Given the description of an element on the screen output the (x, y) to click on. 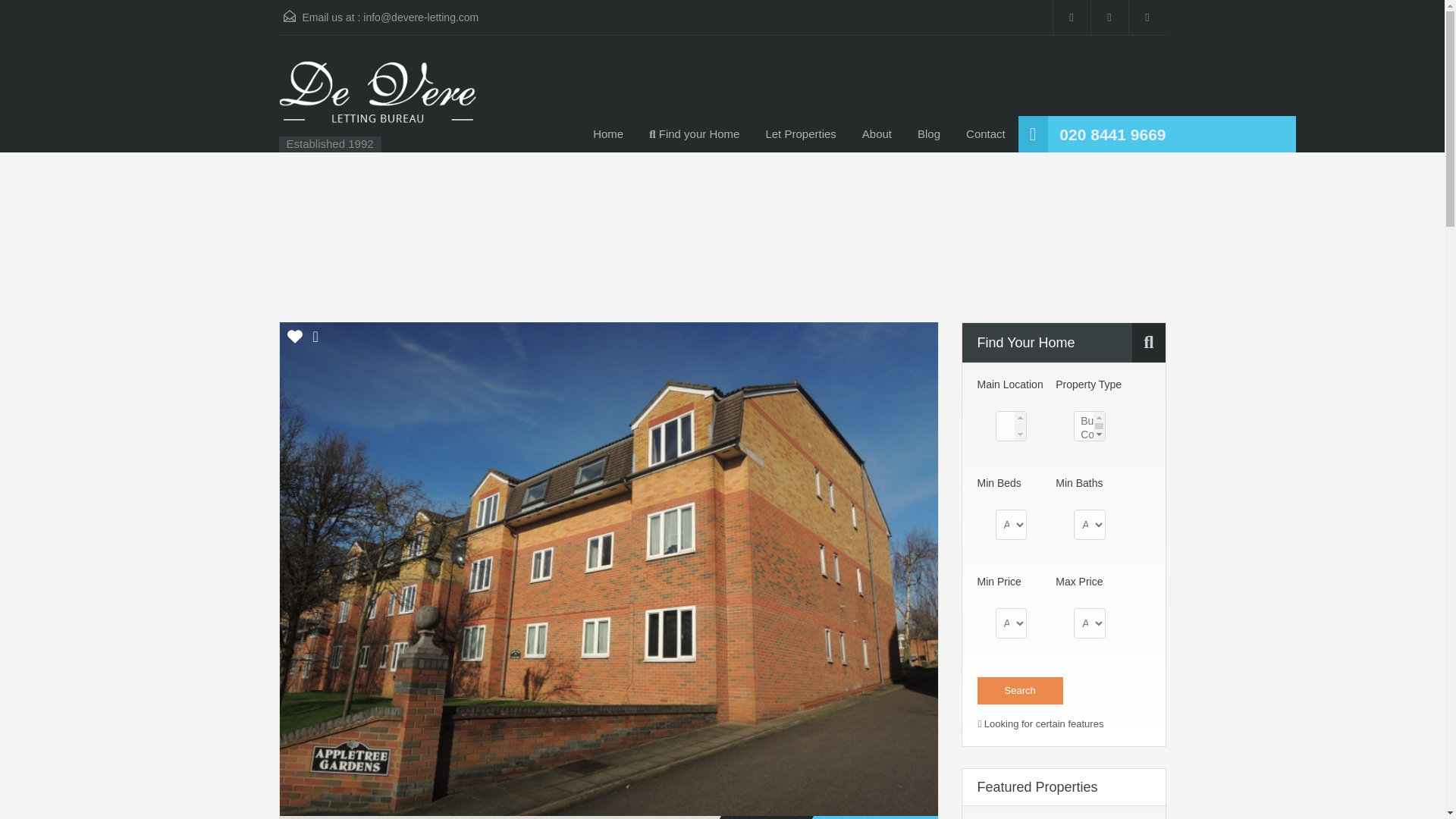
020 8441 9669 (1112, 134)
Blog (928, 134)
Let Properties (800, 134)
Search (1019, 690)
Find your Home (694, 134)
Make a Call (1112, 134)
Home (607, 134)
De Vere (377, 101)
All Types (1089, 426)
All Locations (1010, 426)
